Given the description of an element on the screen output the (x, y) to click on. 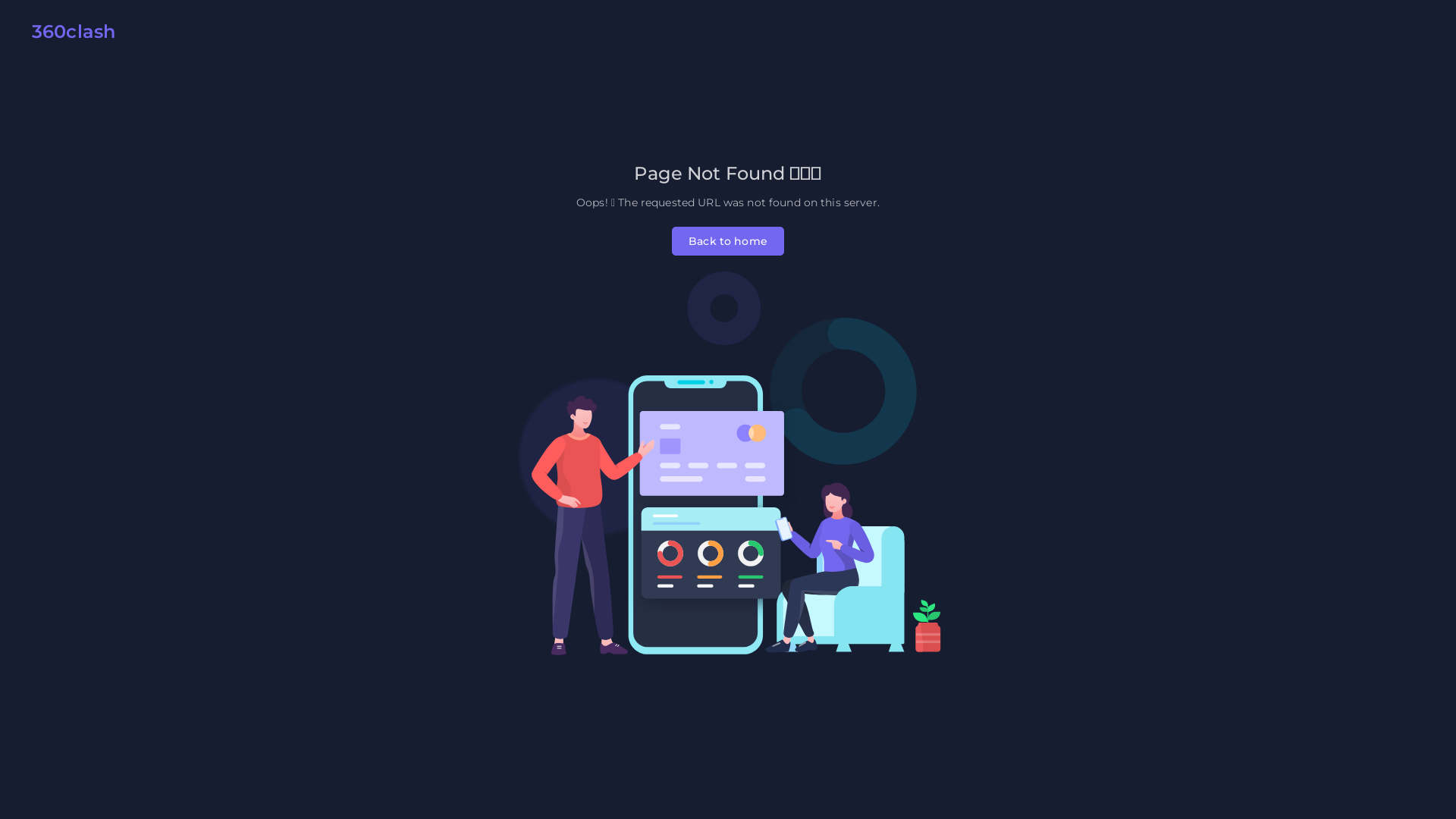
Back to home Element type: text (727, 240)
360clash Element type: text (68, 34)
